Given the description of an element on the screen output the (x, y) to click on. 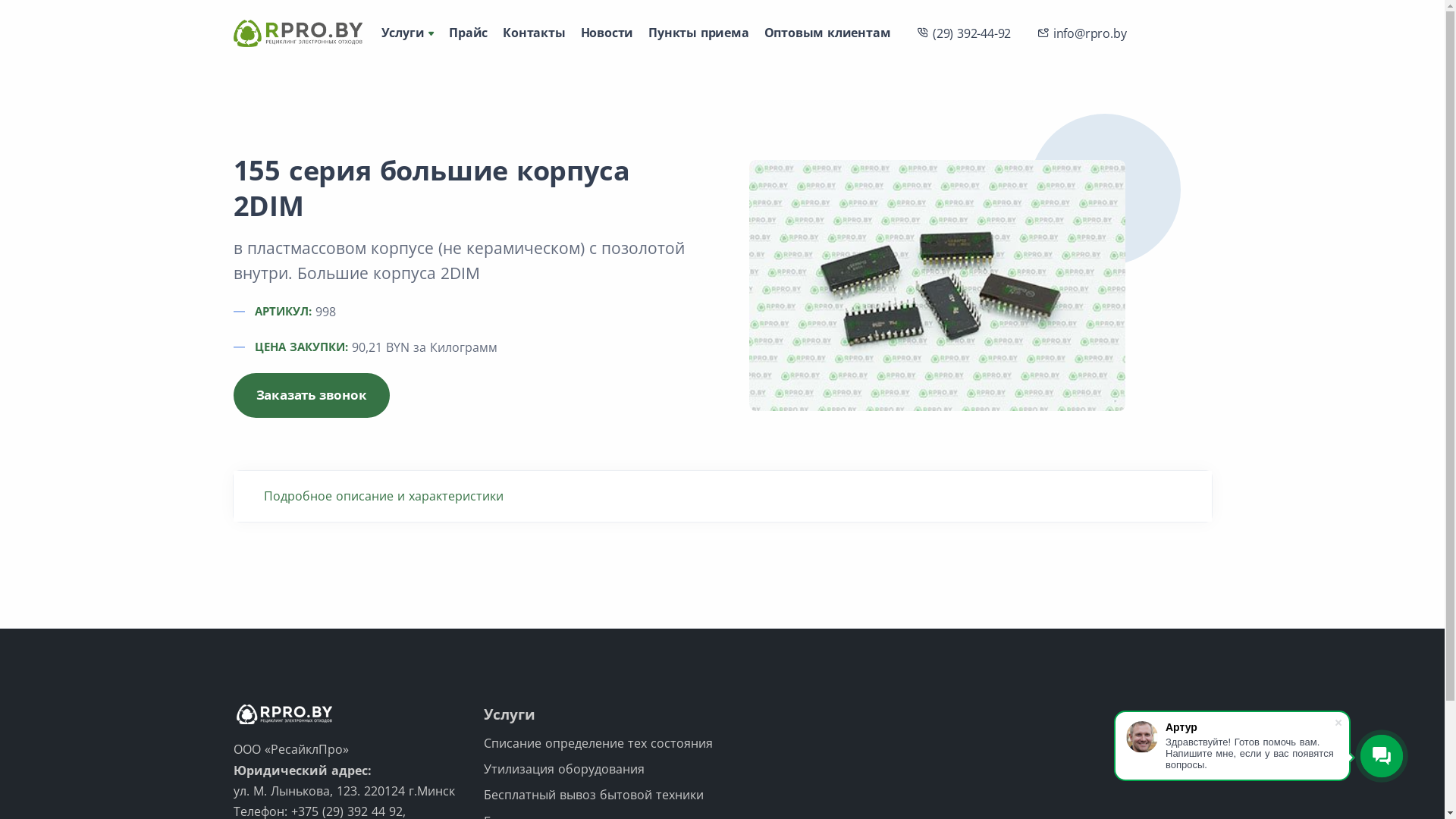
(29) 392-44-92 Element type: text (963, 33)
info@rpro.by Element type: text (1081, 33)
